Given the description of an element on the screen output the (x, y) to click on. 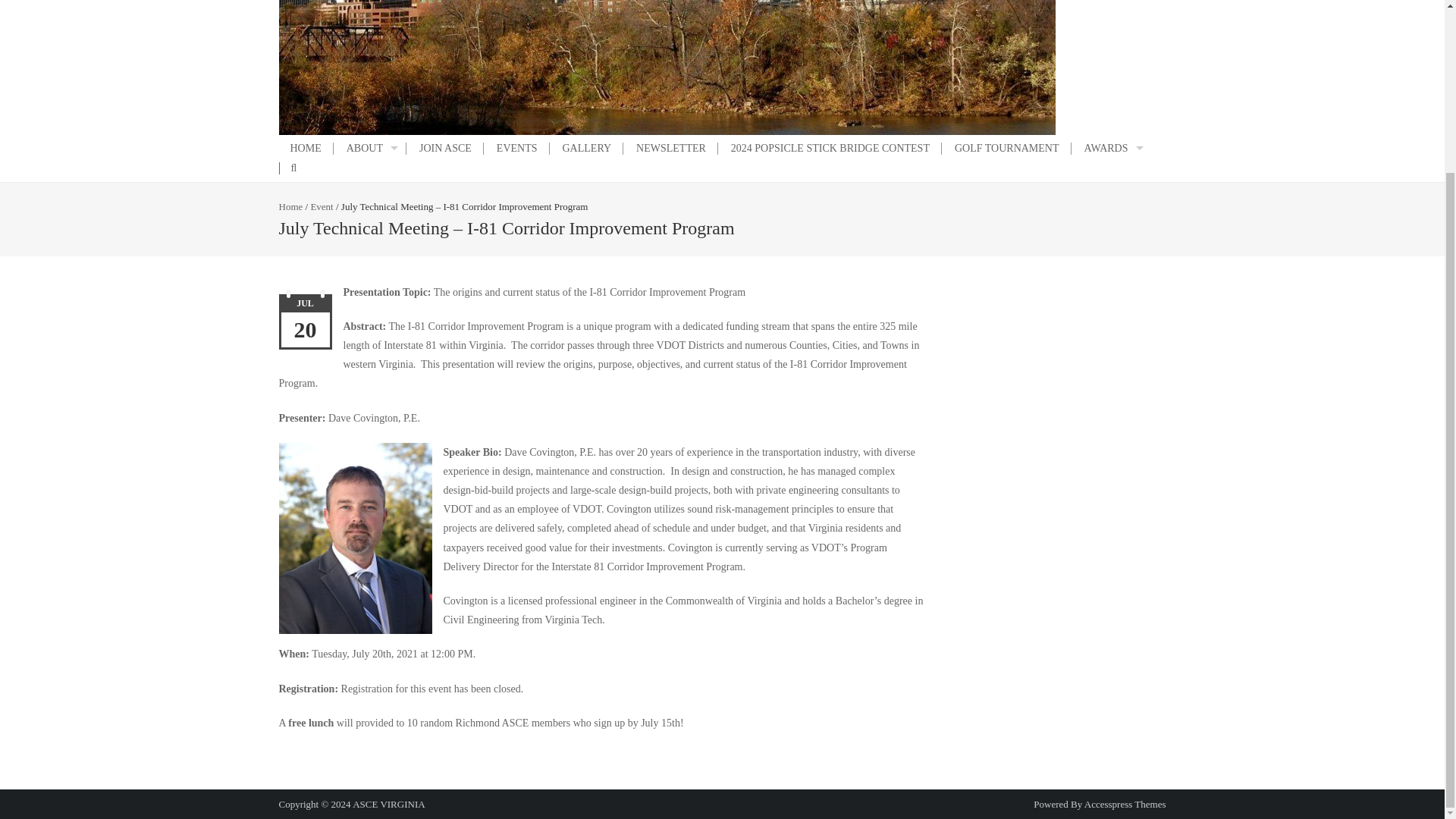
Home (290, 206)
EVENTS (517, 148)
ABOUT (370, 148)
AWARDS (1112, 148)
Accesspress Themes (1125, 803)
GALLERY (586, 148)
GOLF TOURNAMENT (1007, 148)
2024 POPSICLE STICK BRIDGE CONTEST (830, 148)
ASCE VIRGINIA (388, 803)
JOIN ASCE (445, 148)
NEWSLETTER (670, 148)
Event (321, 206)
HOME (306, 148)
